Given the description of an element on the screen output the (x, y) to click on. 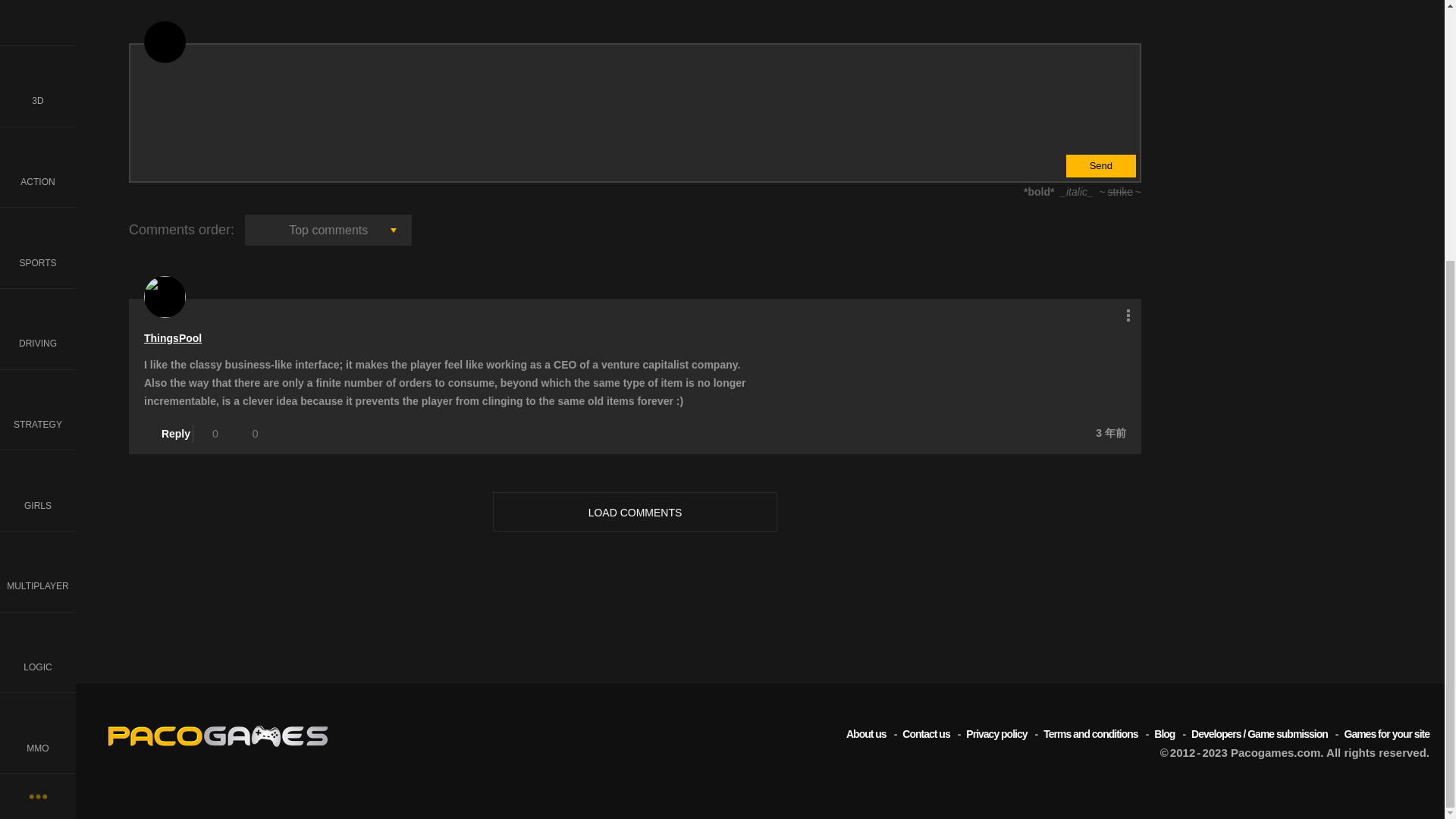
Games For Girls (37, 117)
Logic Games (37, 279)
Strategy Games (37, 38)
Multiplayer Games (37, 198)
LOGIC (37, 279)
STRATEGY (37, 38)
MMO (37, 359)
GIRLS (37, 117)
MMO games (37, 359)
MULTIPLAYER (37, 198)
